Given the description of an element on the screen output the (x, y) to click on. 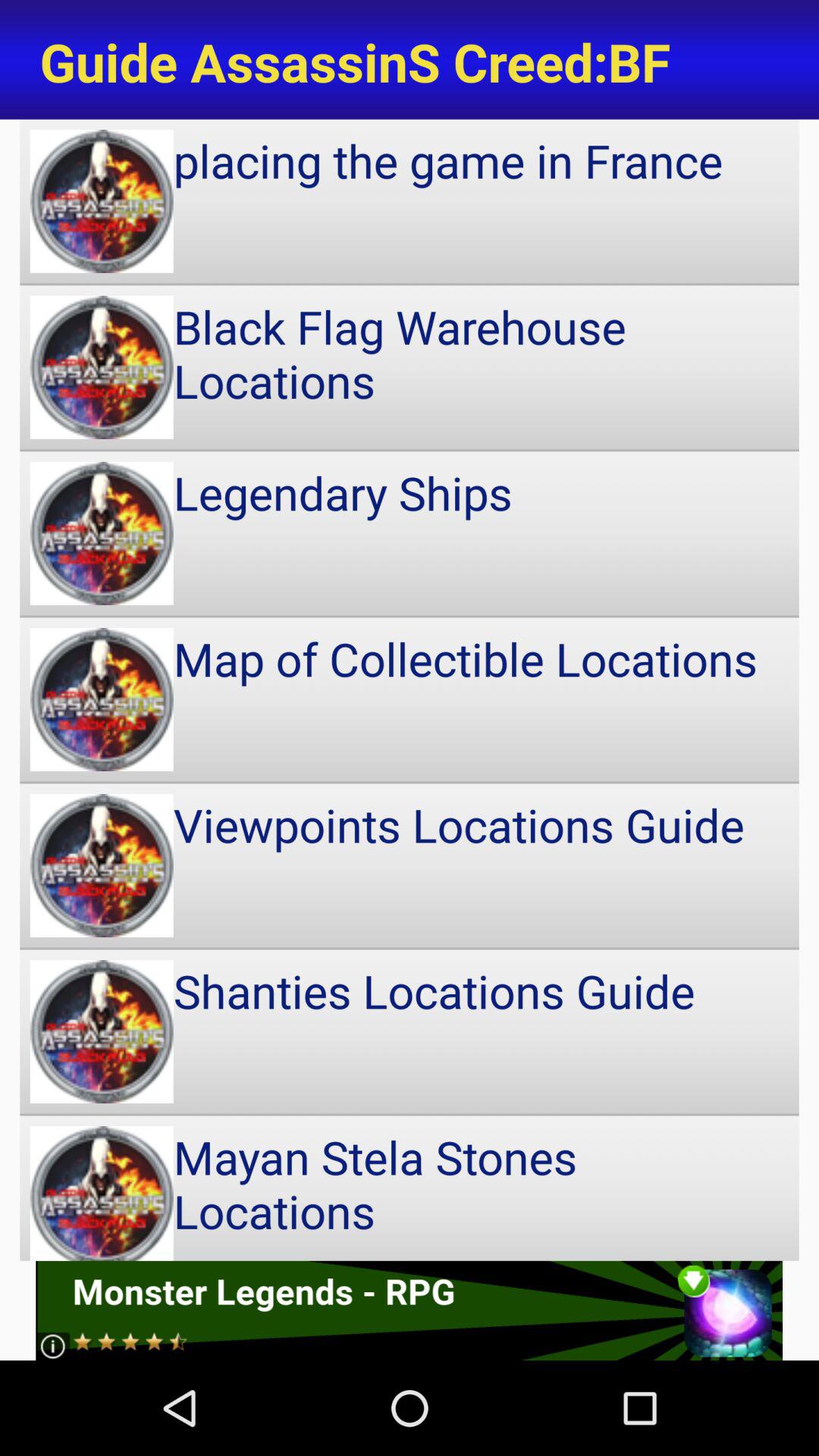
press icon below guide assassins creed (409, 201)
